Given the description of an element on the screen output the (x, y) to click on. 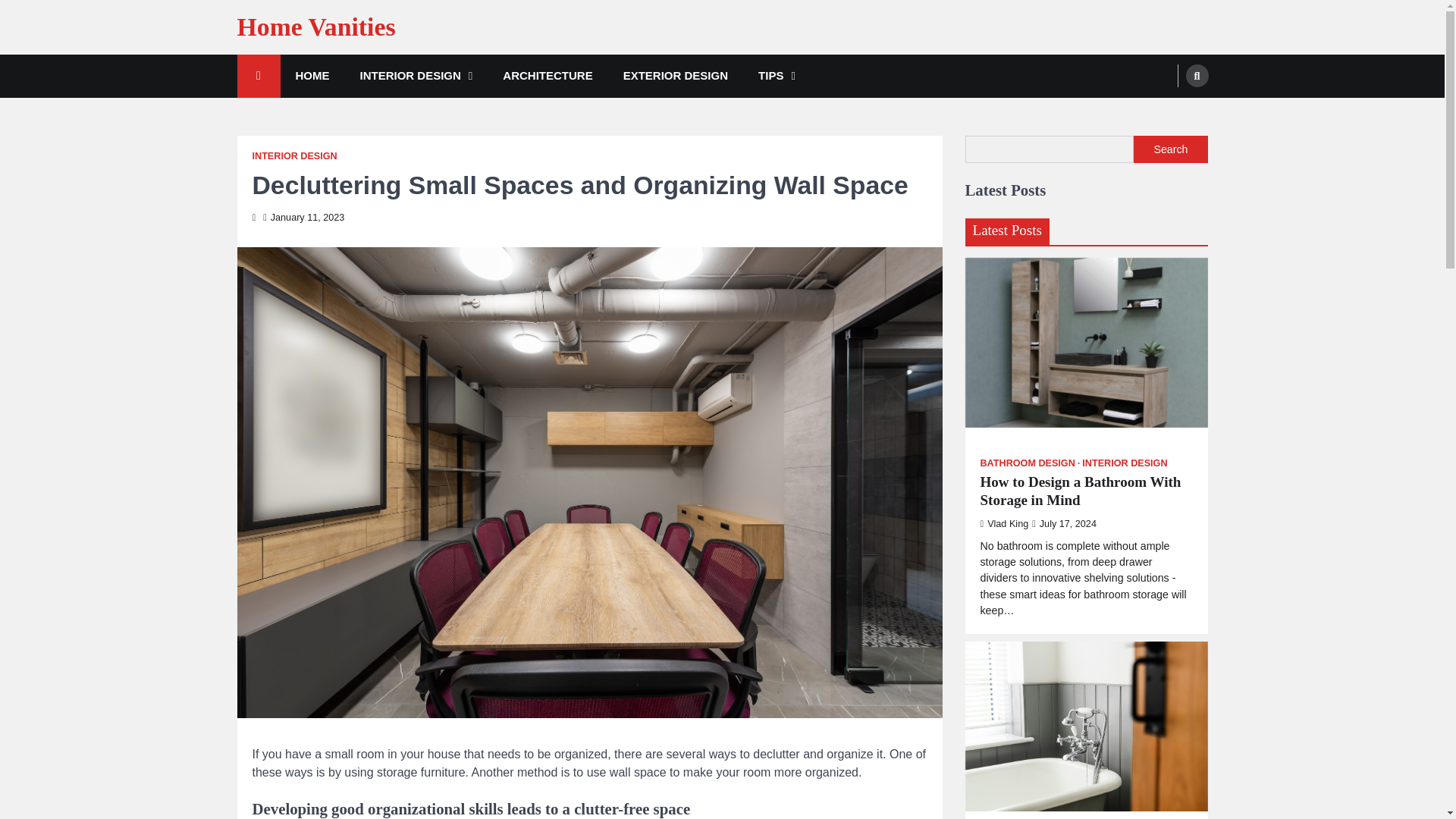
Search (1170, 148)
INTERIOR DESIGN (415, 75)
Search (1197, 75)
How to Design a Bathroom With Storage in Mind (1085, 492)
Vlad King (1003, 523)
January 11, 2023 (303, 217)
INTERIOR DESIGN (293, 156)
Home Vanities (314, 26)
INTERIOR DESIGN (1124, 463)
TIPS (776, 75)
EXTERIOR DESIGN (675, 75)
Search (1168, 111)
July 17, 2024 (1064, 523)
BATHROOM DESIGN (1029, 463)
ARCHITECTURE (547, 75)
